Given the description of an element on the screen output the (x, y) to click on. 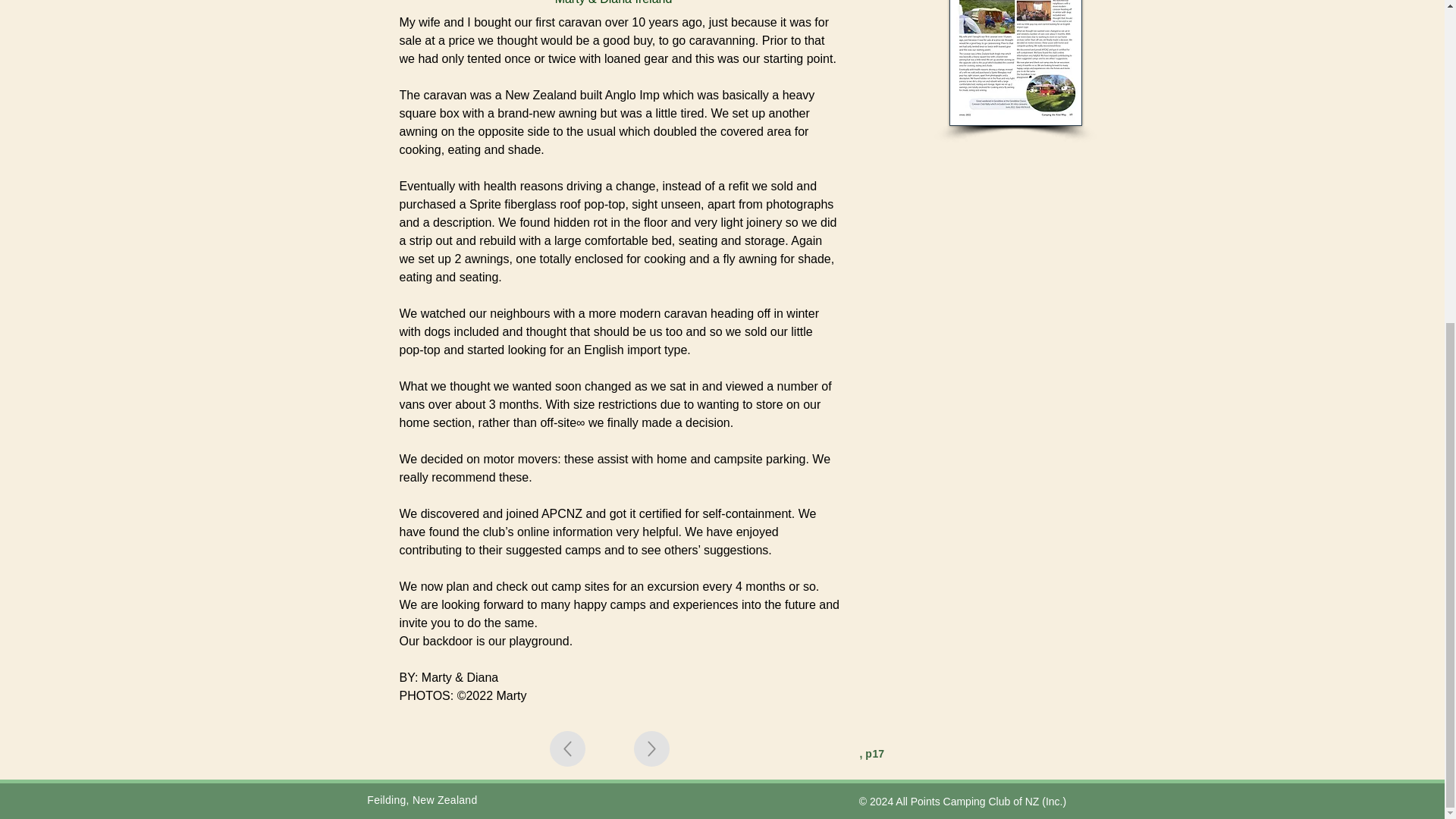
p17-09-22-CTKW.jpg (1015, 63)
